Given the description of an element on the screen output the (x, y) to click on. 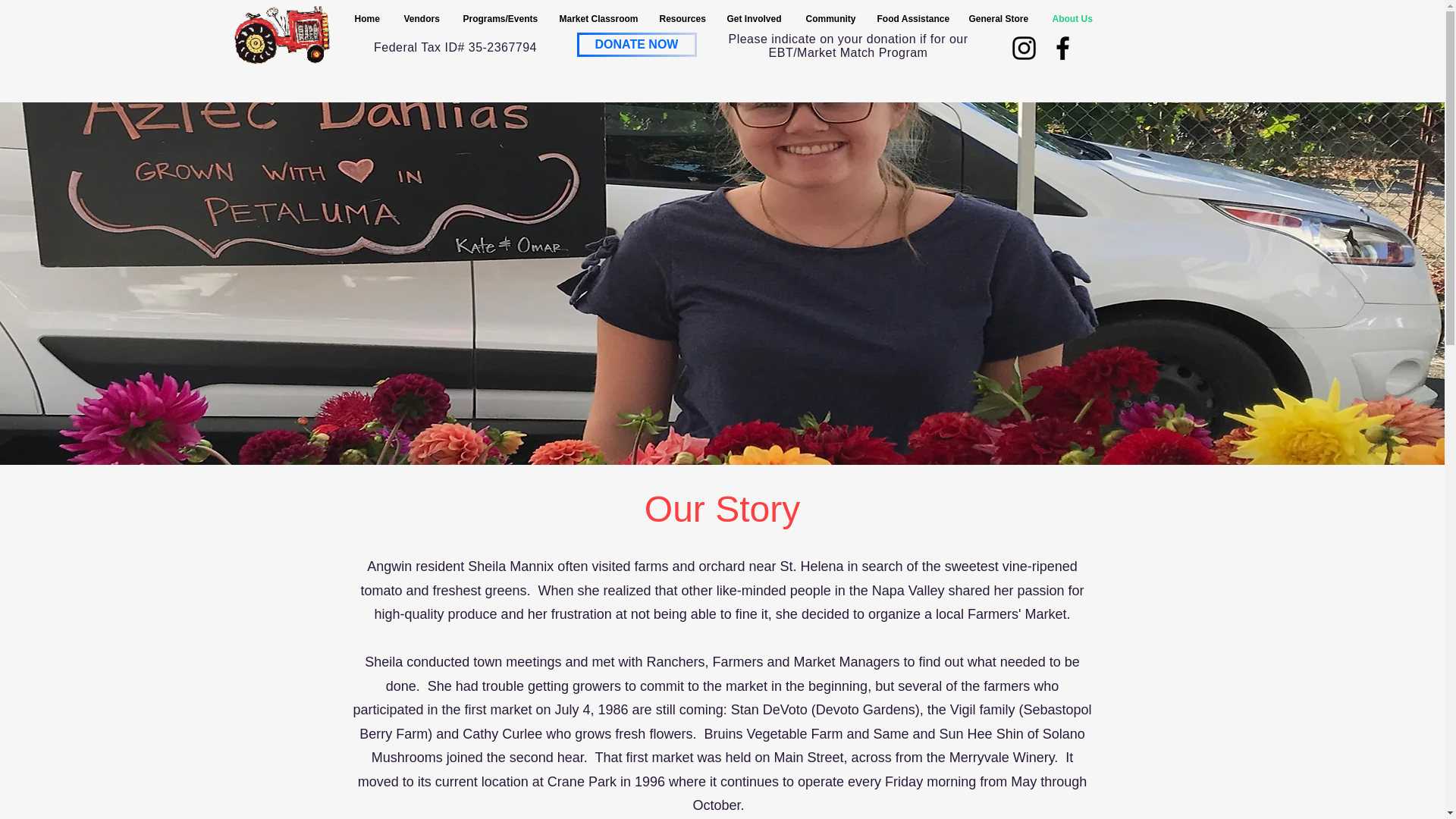
Market Classroom (597, 19)
About Us (1073, 19)
Get Involved (755, 19)
Food Assistance (912, 19)
Community (830, 19)
Vendors (422, 19)
Resources (680, 19)
Home (366, 19)
General Store (998, 19)
